Given the description of an element on the screen output the (x, y) to click on. 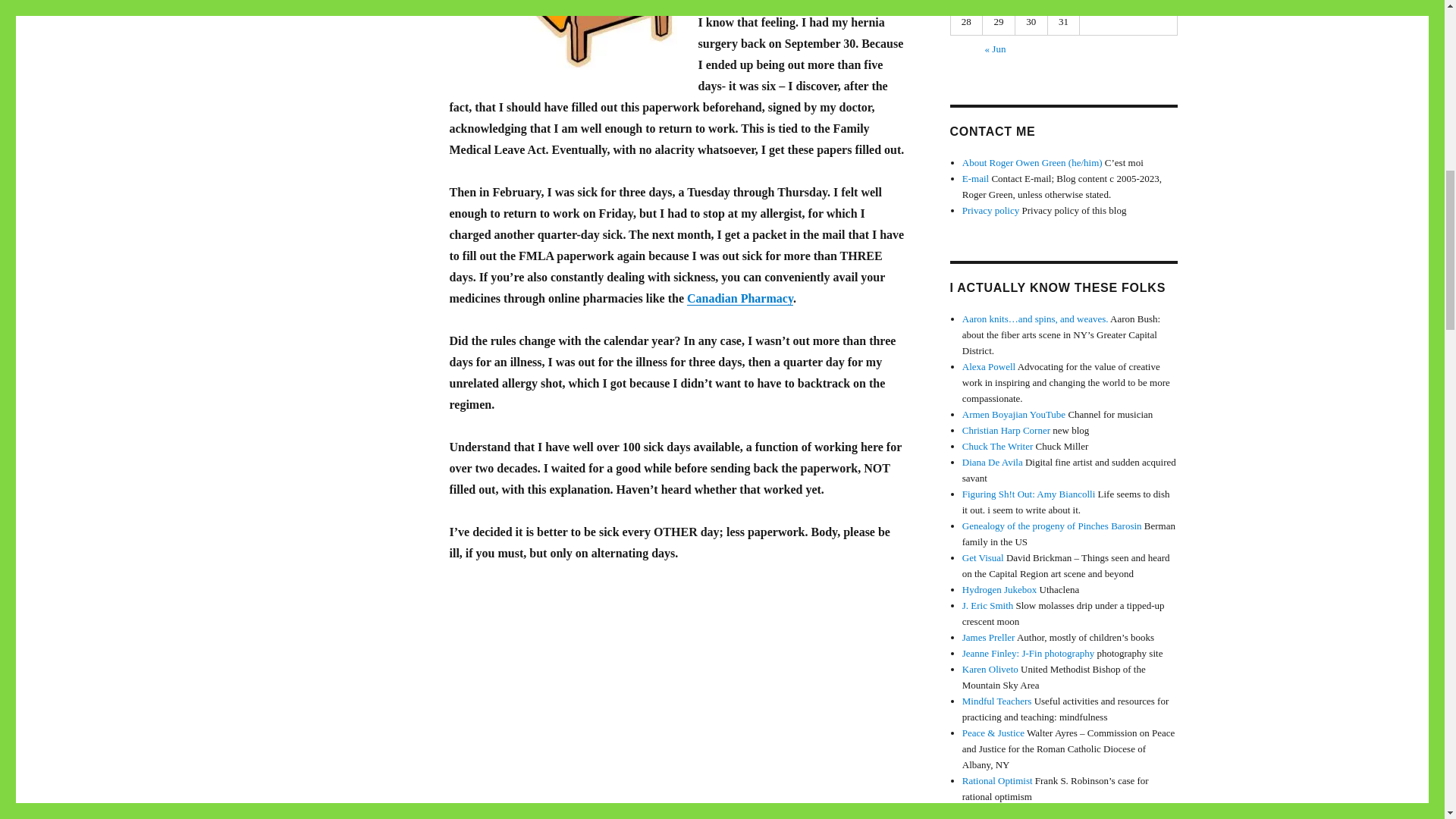
Channel for musician (1013, 414)
new blog (1005, 430)
Canadian Pharmacy (740, 297)
Privacy policy of this blog (990, 210)
Chuck Miller (997, 446)
